Given the description of an element on the screen output the (x, y) to click on. 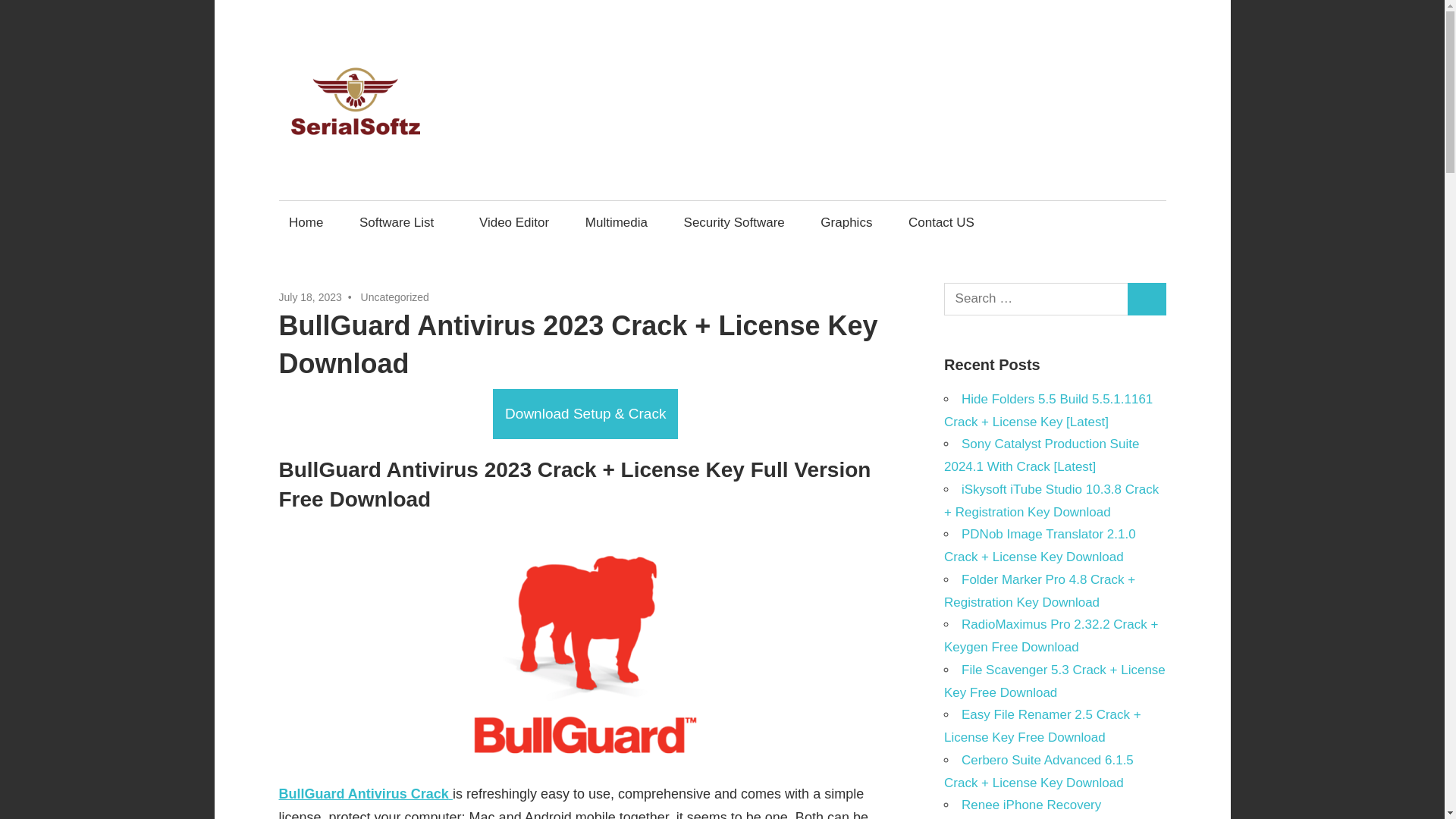
BullGuard Antivirus Crack (365, 793)
Software List (400, 221)
Uncategorized (395, 297)
2:51 am (310, 297)
Home (306, 221)
Contact US (941, 221)
July 18, 2023 (310, 297)
Multimedia (616, 221)
Graphics (846, 221)
Video Editor (513, 221)
Security Software (733, 221)
